Given the description of an element on the screen output the (x, y) to click on. 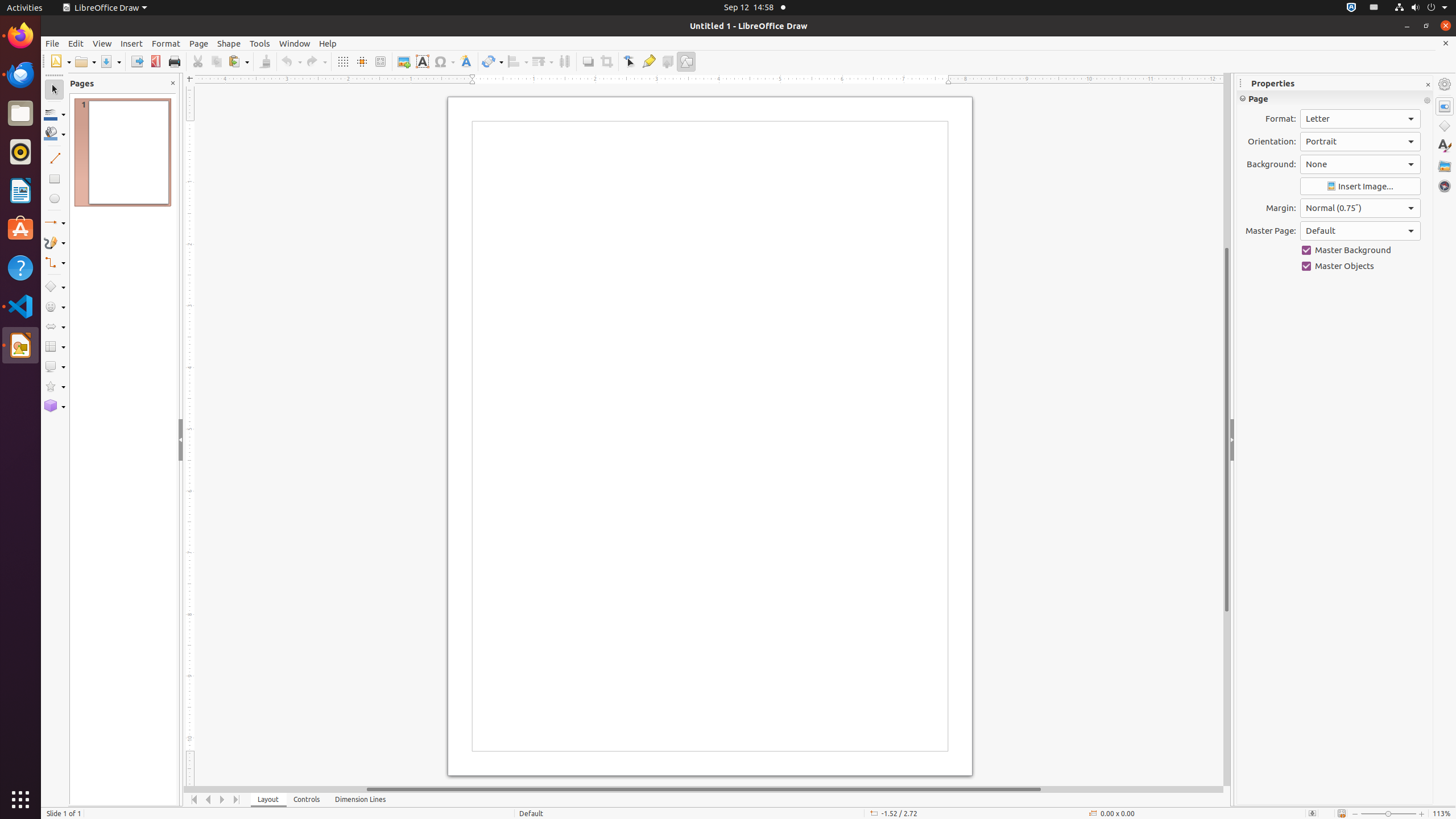
Show Applications Element type: toggle-button (20, 799)
Text Box Element type: push-button (421, 61)
Styles Element type: radio-button (1444, 146)
Star Shapes Element type: push-button (54, 386)
